Given the description of an element on the screen output the (x, y) to click on. 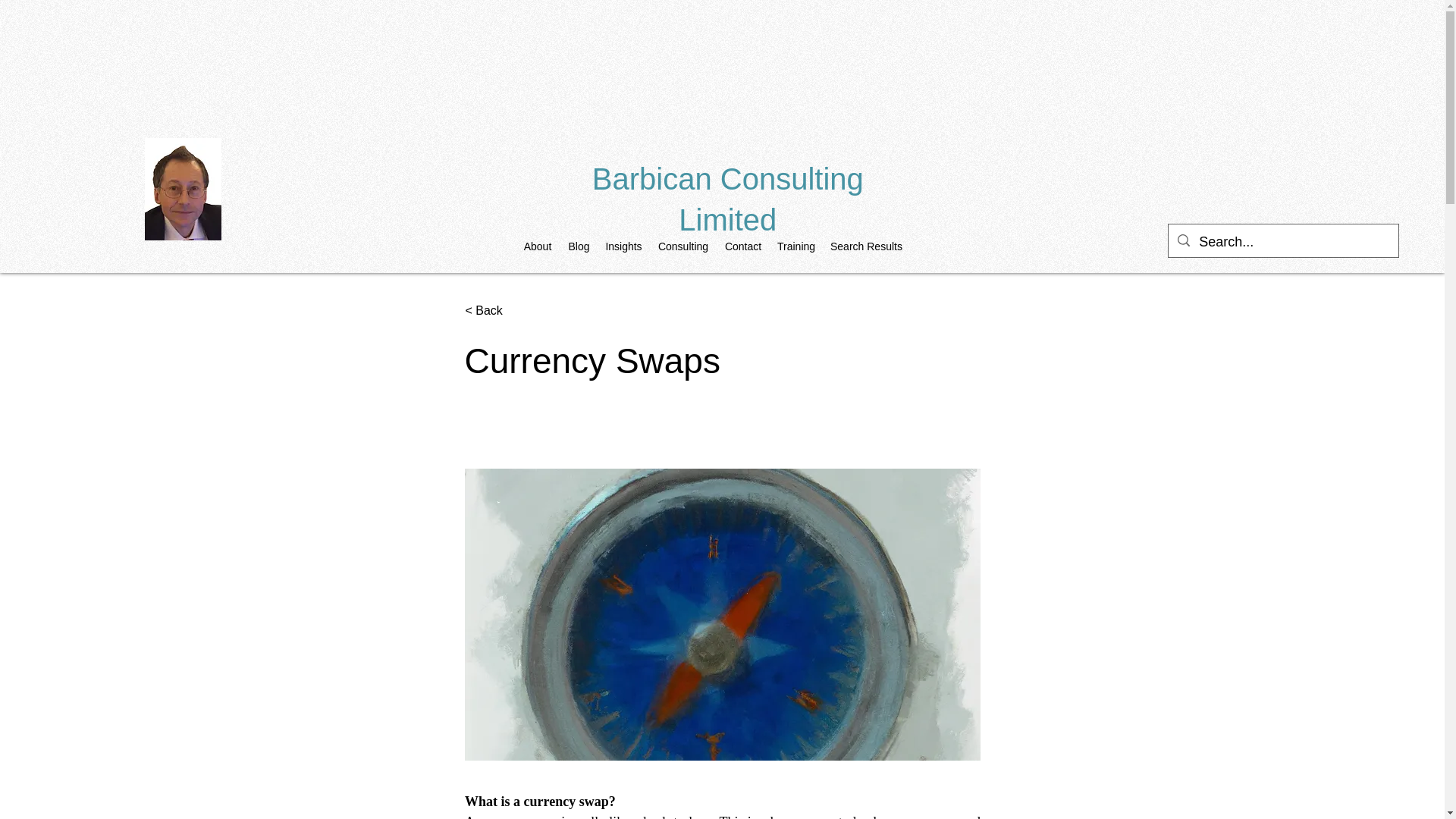
About (537, 246)
Insights (622, 246)
Consulting (682, 246)
Contact (743, 246)
Blog (578, 246)
Training (796, 246)
Search Results (864, 246)
